Given the description of an element on the screen output the (x, y) to click on. 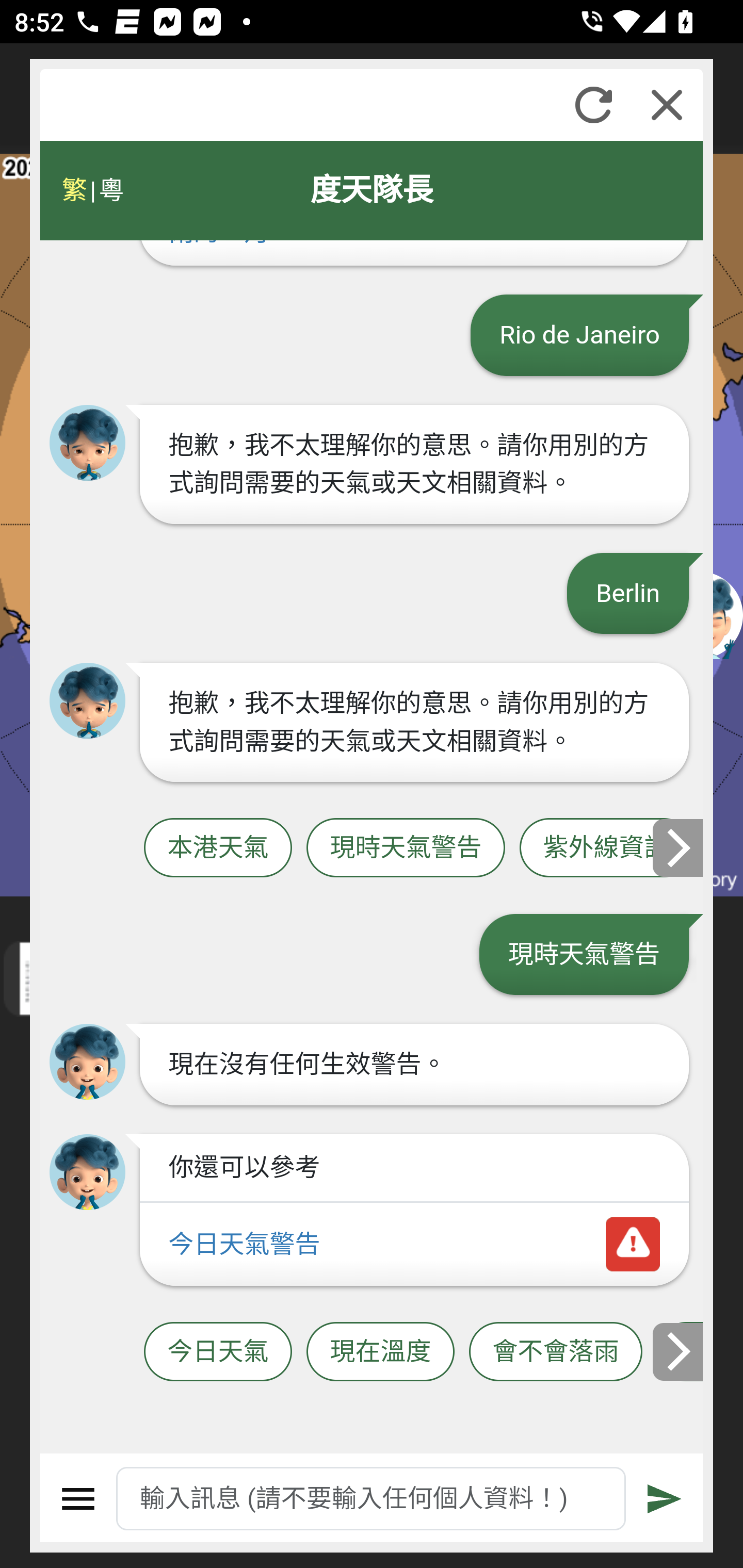
重新整理 (593, 104)
關閉 (666, 104)
繁 (73, 190)
粵 (110, 190)
本港天氣 (217, 847)
現時天氣警告 (405, 847)
紫外線資訊 (605, 847)
下一張 (678, 847)
今日天氣警告 (413, 1244)
今日天氣 (217, 1351)
現在溫度 (380, 1351)
會不會落雨 (555, 1351)
下一張 (678, 1351)
選單 (78, 1498)
遞交 (665, 1498)
